Given the description of an element on the screen output the (x, y) to click on. 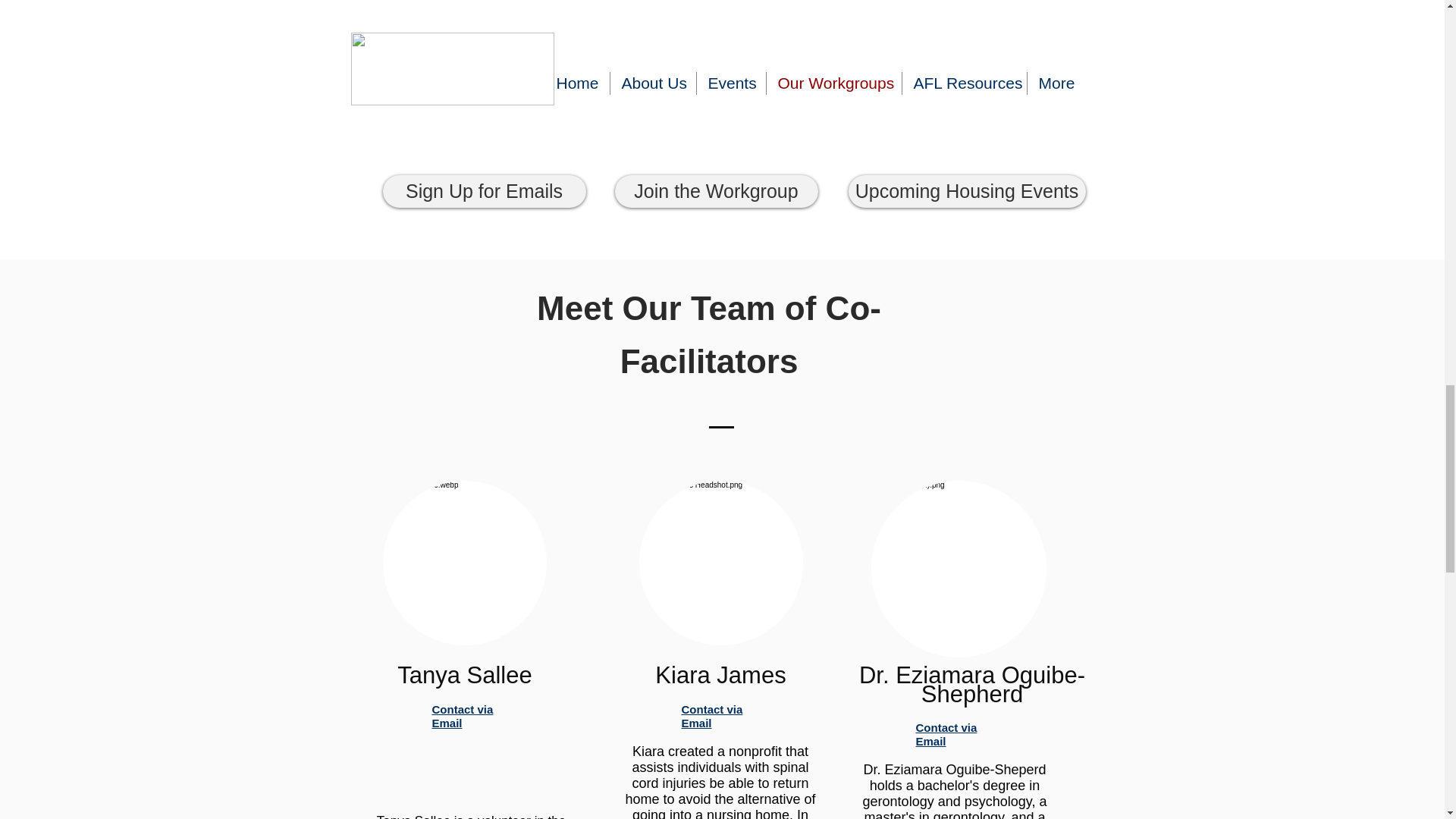
guy2.jpg (720, 562)
guy2.jpg (463, 562)
Contact via Email (711, 716)
Join the Workgroup (715, 191)
Contact via Email (462, 716)
Contact via Email (945, 734)
Sign Up for Emails (483, 191)
guy2.jpg (957, 568)
Upcoming Housing Events (965, 191)
